Given the description of an element on the screen output the (x, y) to click on. 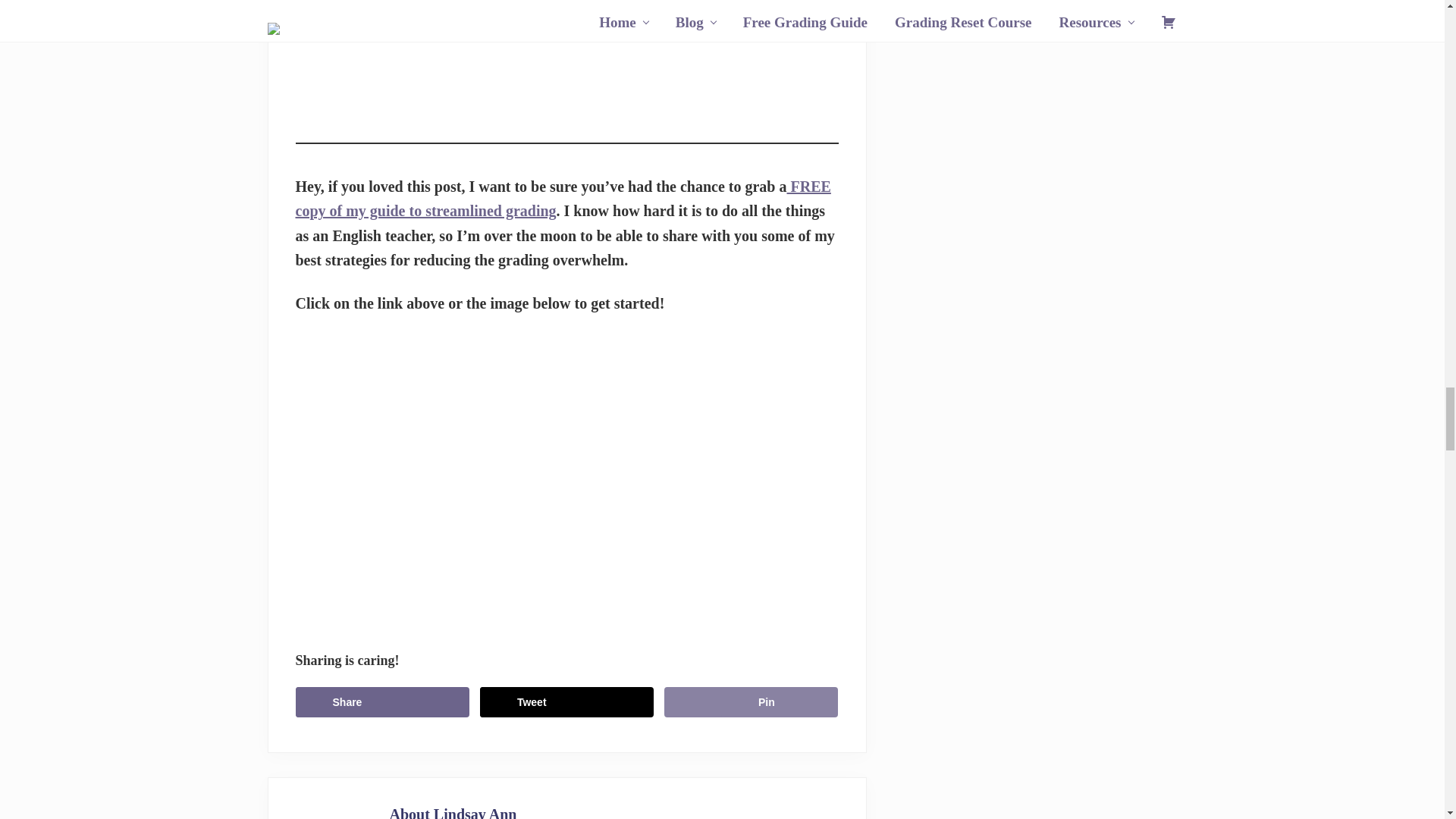
Save to Pinterest (750, 702)
Share on X (566, 702)
Share on Facebook (381, 702)
